Given the description of an element on the screen output the (x, y) to click on. 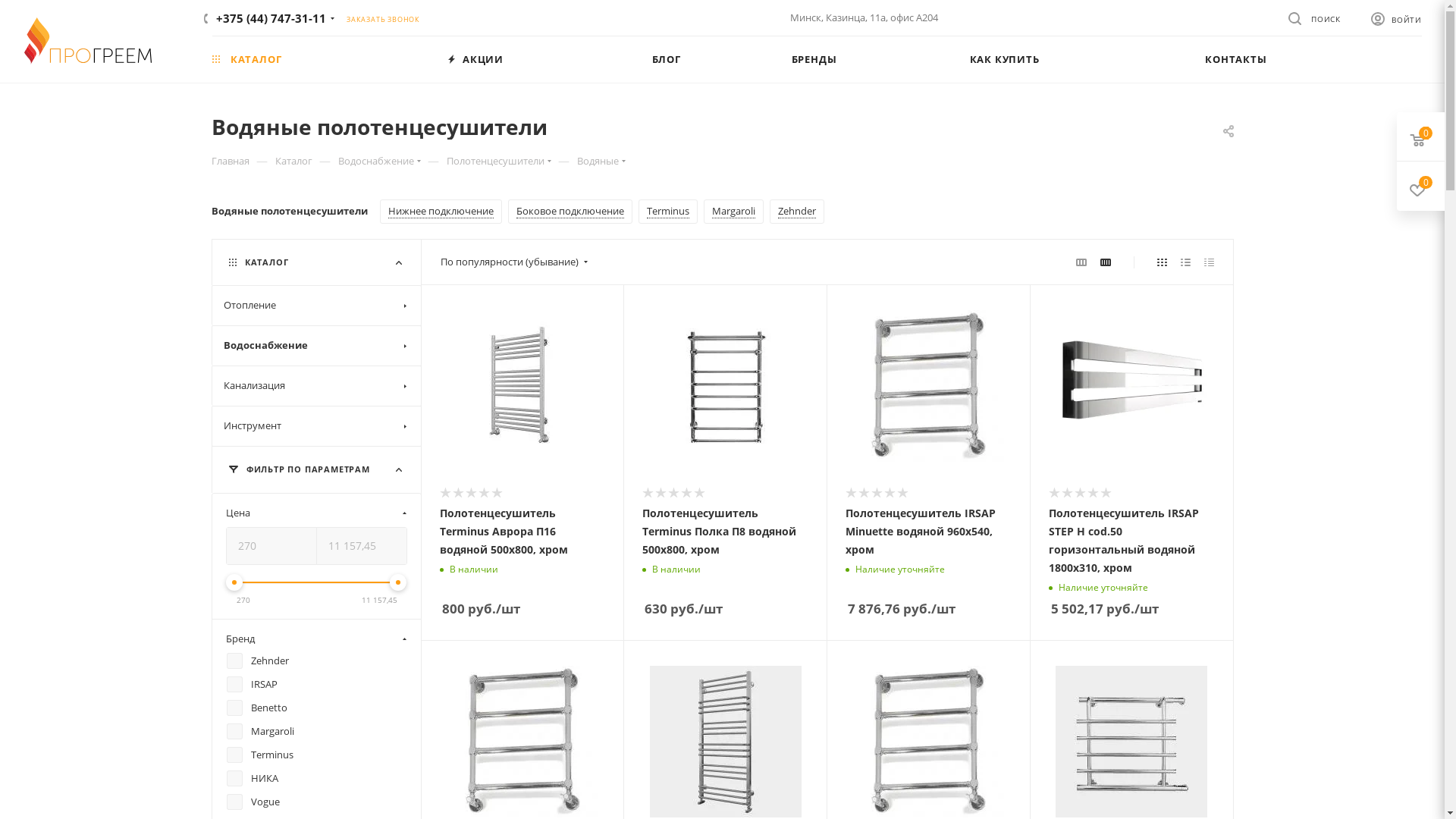
Margaroli Element type: text (733, 211)
Y Element type: text (4, 4)
Terminus Element type: text (667, 211)
Zehnder Element type: text (795, 211)
+375 (44) 747-31-11 Element type: text (271, 17)
PROGREEM.BY Element type: hover (87, 40)
